Given the description of an element on the screen output the (x, y) to click on. 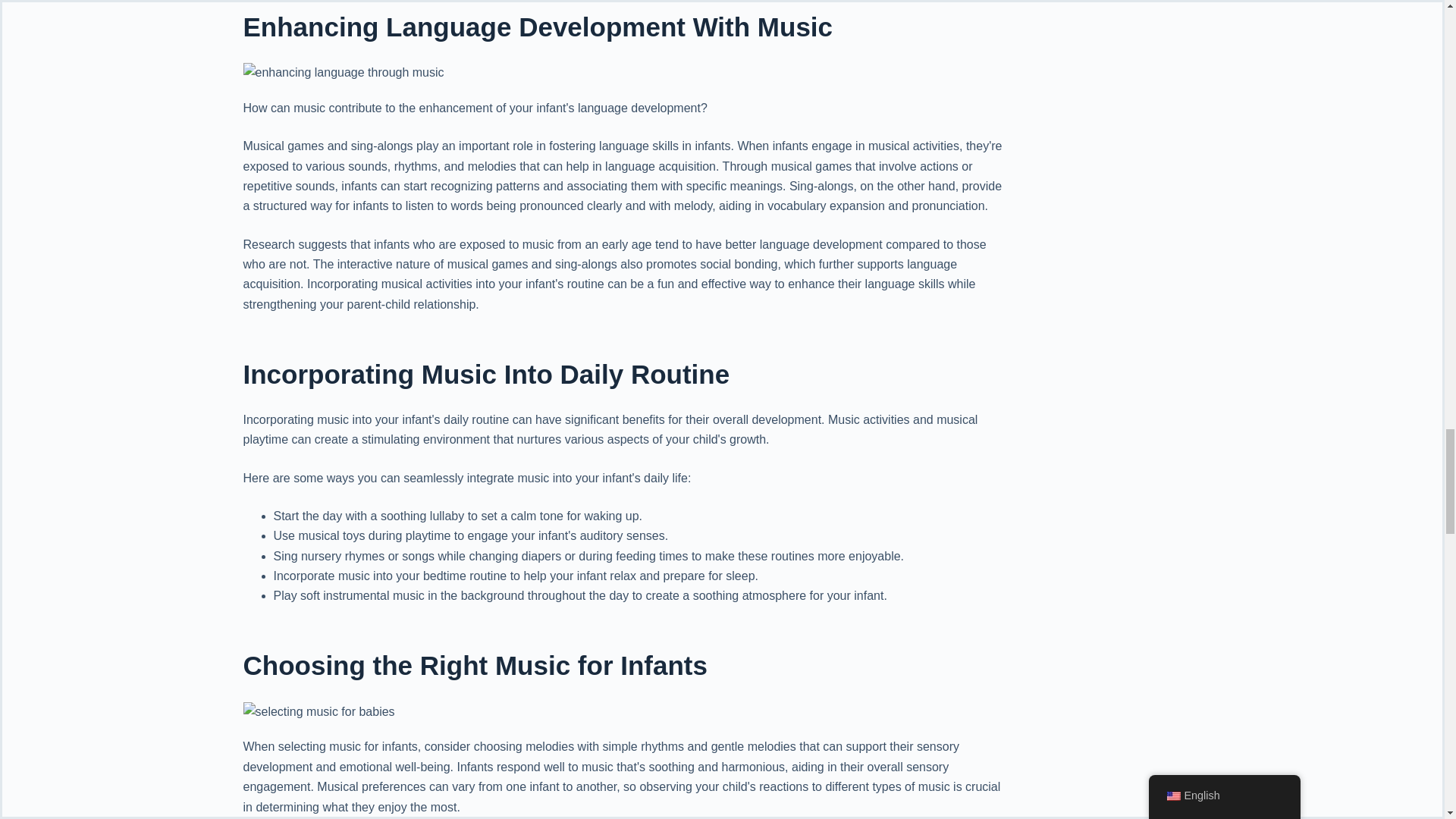
The Role of Music in Infant Development: A Parent's Guide 3 (343, 72)
The Role of Music in Infant Development: A Parent's Guide 4 (318, 711)
